Given the description of an element on the screen output the (x, y) to click on. 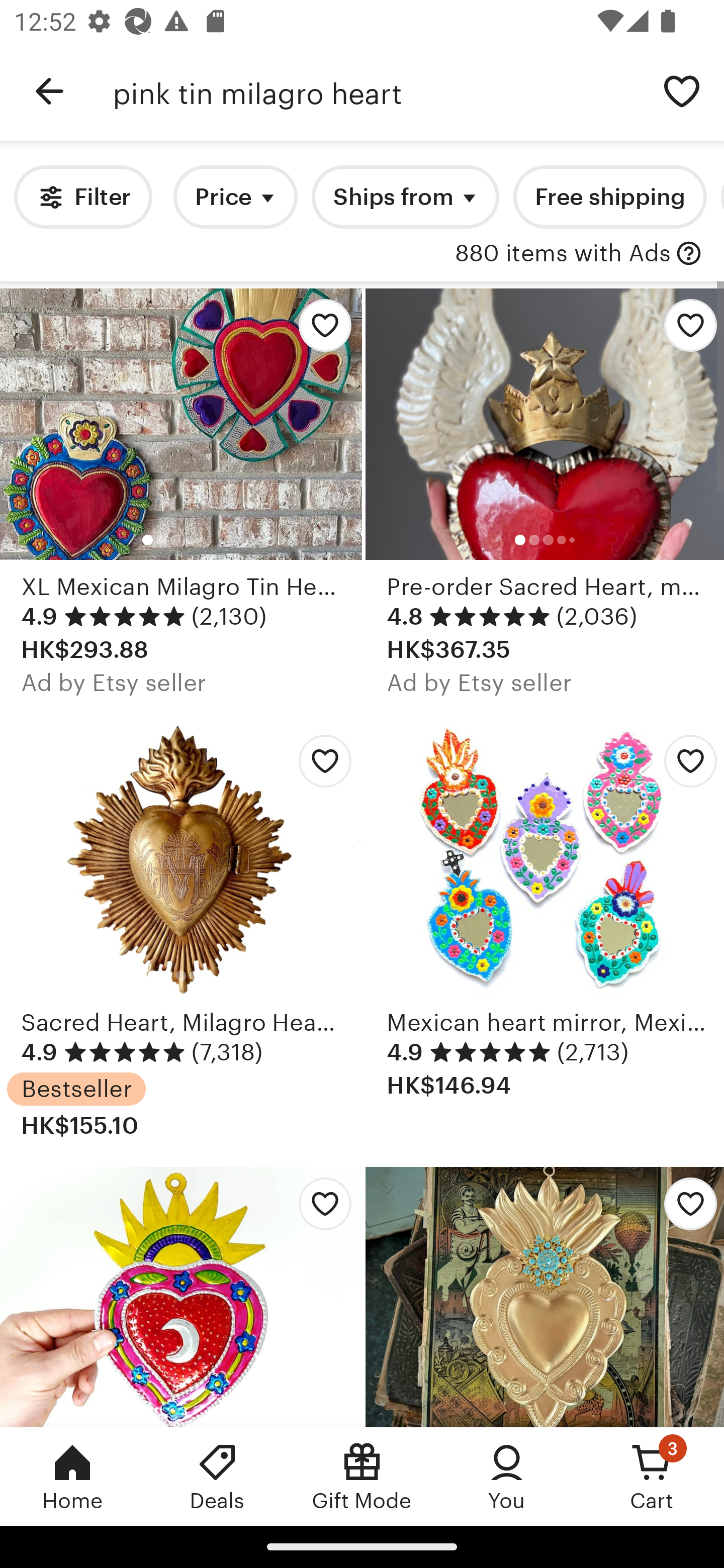
Navigate up (49, 91)
Save search (681, 90)
pink tin milagro heart (375, 91)
Filter (82, 197)
Price (235, 197)
Ships from (405, 197)
Free shipping (609, 197)
880 items with Ads (562, 253)
with Ads (688, 253)
Add XL Mexican Milagro Tin Heart to favorites (319, 330)
Deals (216, 1475)
Gift Mode (361, 1475)
You (506, 1475)
Cart, 3 new notifications Cart (651, 1475)
